Given the description of an element on the screen output the (x, y) to click on. 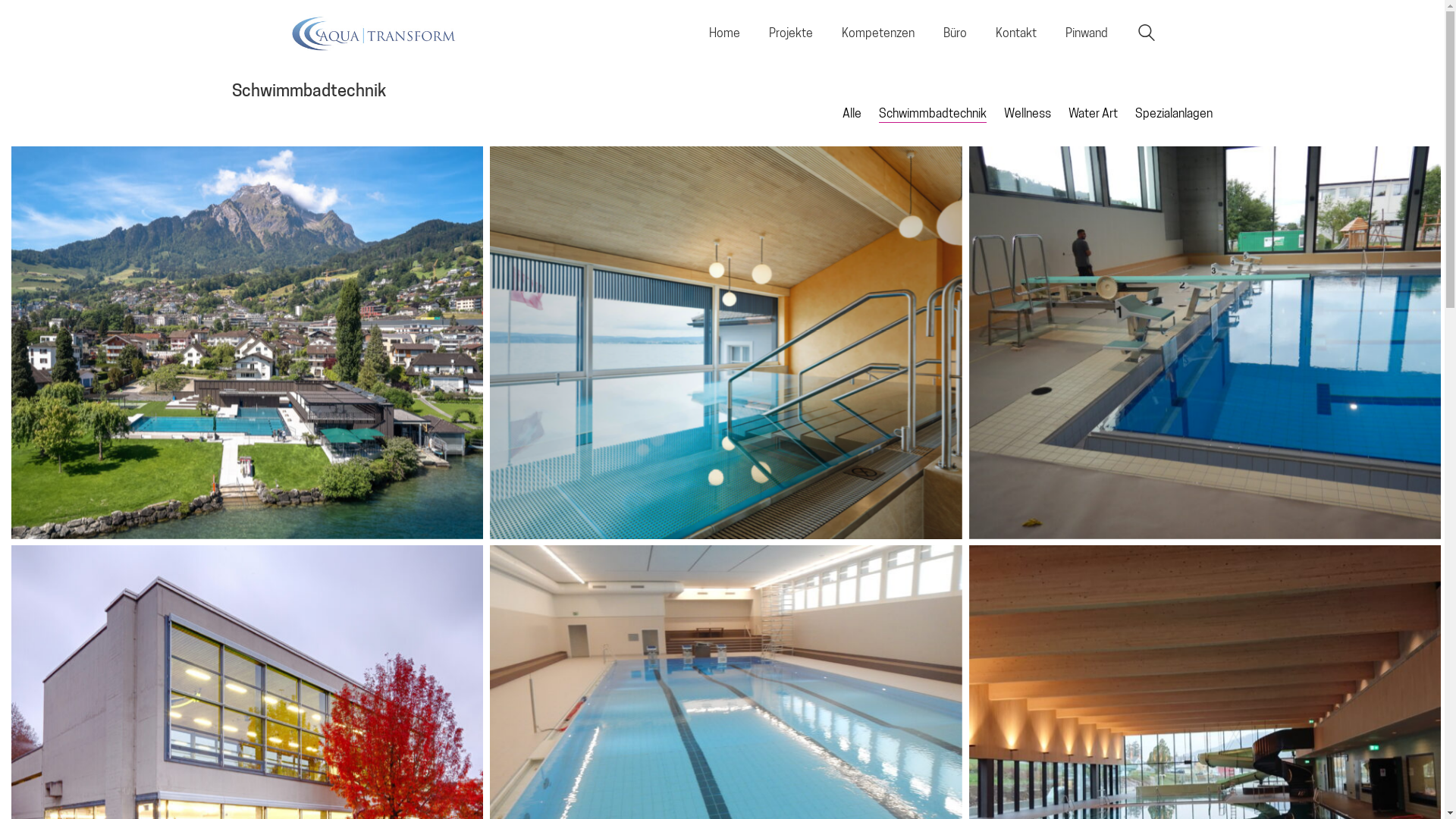
Home Element type: text (723, 32)
Spezialanlagen Element type: text (1173, 113)
Wellness Element type: text (1027, 113)
Schwimmbadtechnik Element type: text (932, 113)
Kompetenzen Element type: text (878, 32)
Pinwand Element type: text (1085, 32)
Water Art Element type: text (1092, 113)
Kontakt Element type: text (1015, 32)
Projekte Element type: text (790, 32)
Alle Element type: text (851, 113)
